Given the description of an element on the screen output the (x, y) to click on. 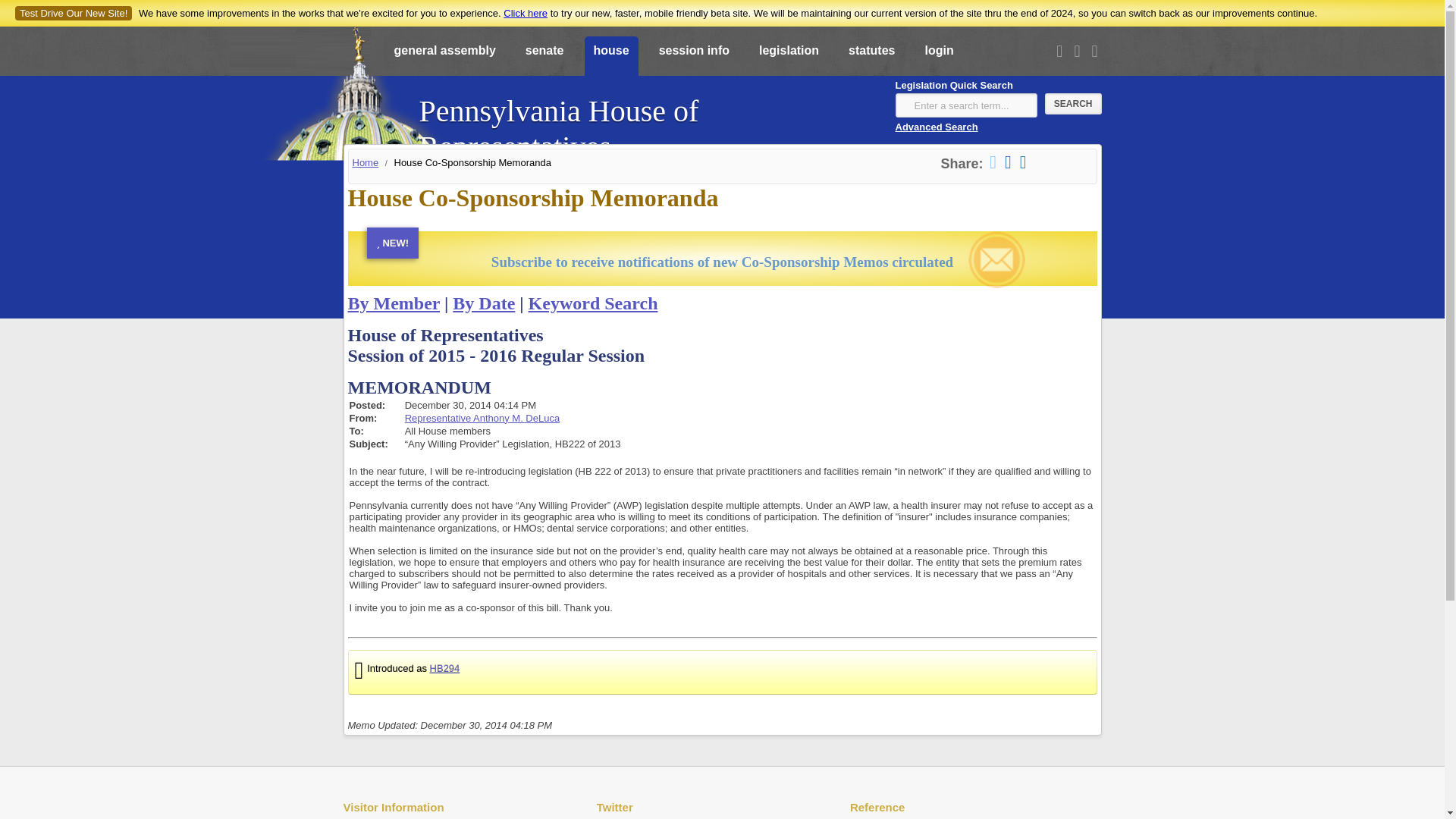
statutes (872, 57)
house (610, 57)
legislation (788, 57)
Search (1073, 103)
Pennsylvania House of Representatives (647, 120)
senate (544, 57)
Advanced Search (935, 126)
Search (1073, 103)
general assembly (445, 57)
Click here (525, 12)
